Given the description of an element on the screen output the (x, y) to click on. 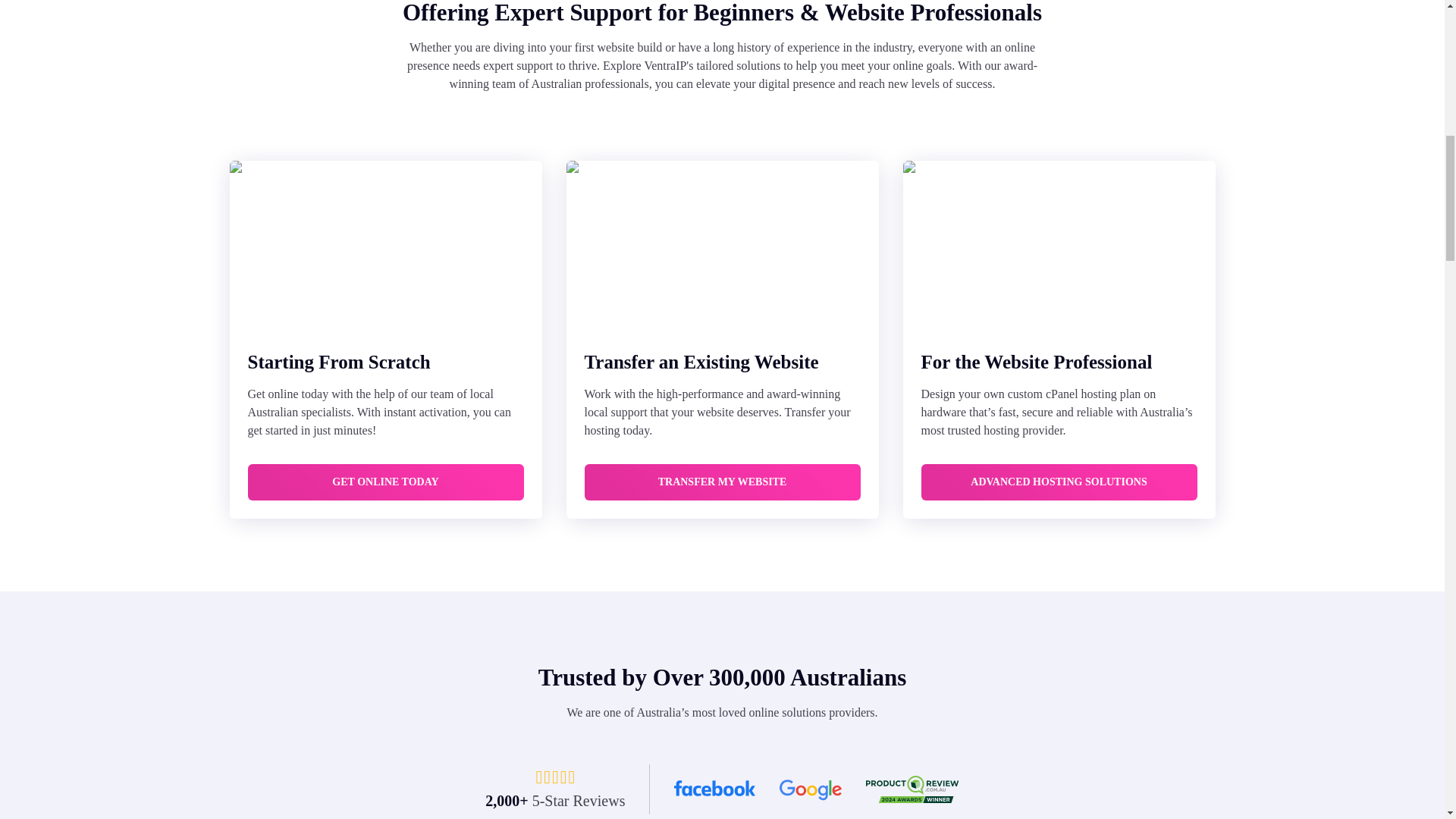
Starting From Scratch (384, 362)
ADVANCED HOSTING SOLUTIONS (1058, 482)
TRANSFER MY WEBSITE (721, 482)
GET ONLINE TODAY (384, 482)
For the Website Professional (1058, 362)
Transfer an Existing Website (721, 362)
